Given the description of an element on the screen output the (x, y) to click on. 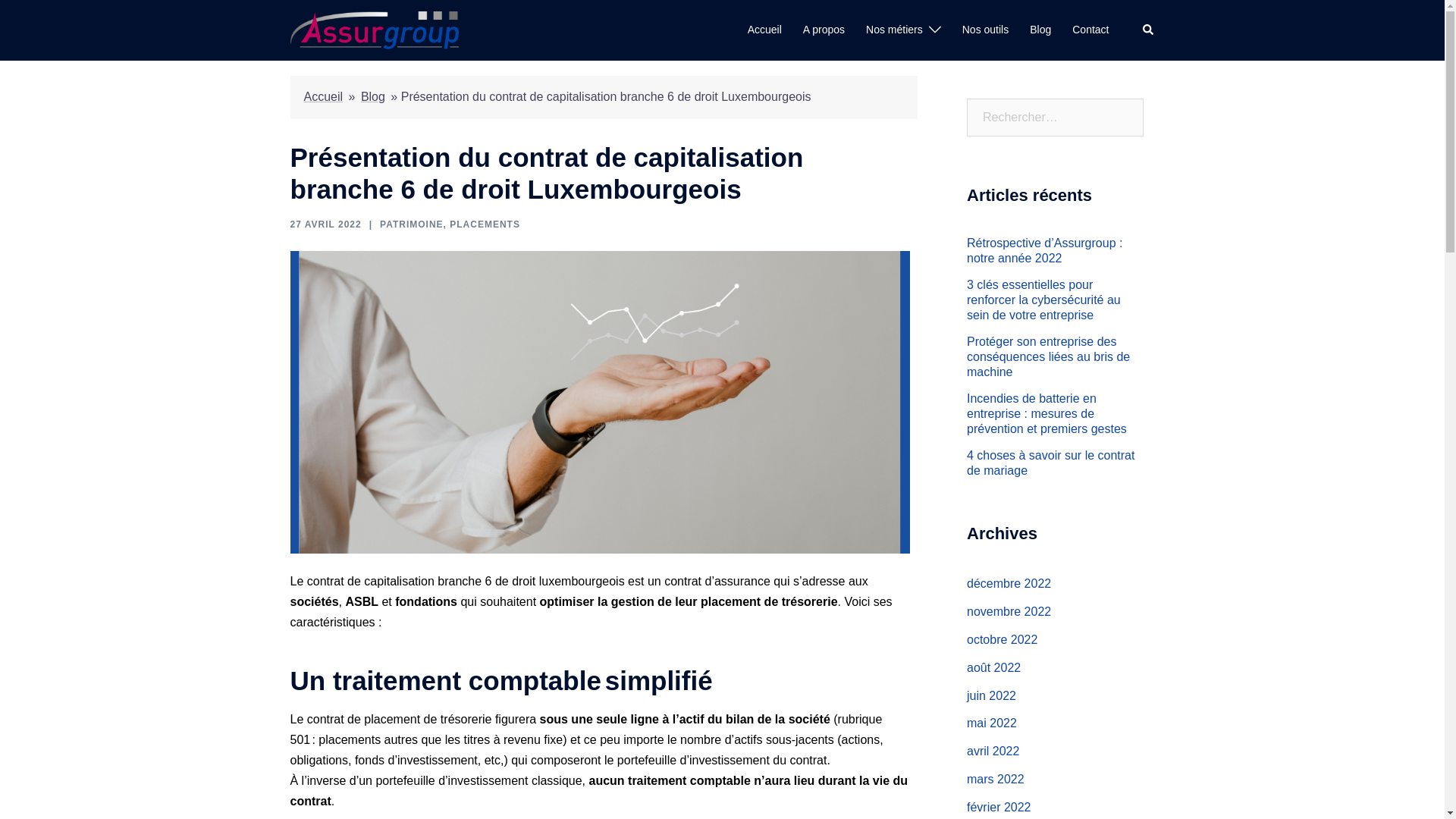
A propos Element type: text (823, 30)
mai 2022 Element type: text (991, 722)
Contact Element type: text (1090, 30)
mars 2022 Element type: text (995, 778)
Blog Element type: text (1040, 30)
Accueil Element type: text (322, 96)
juin 2022 Element type: text (991, 694)
Rechercher Element type: text (50, 17)
27 AVRIL 2022 Element type: text (324, 224)
octobre 2022 Element type: text (1001, 639)
Blog Element type: text (372, 96)
avril 2022 Element type: text (992, 750)
Assurgroup Element type: hover (373, 28)
Nos outils Element type: text (985, 30)
PLACEMENTS Element type: text (484, 224)
novembre 2022 Element type: text (1008, 611)
PATRIMOINE Element type: text (411, 224)
Accueil Element type: text (764, 30)
